Given the description of an element on the screen output the (x, y) to click on. 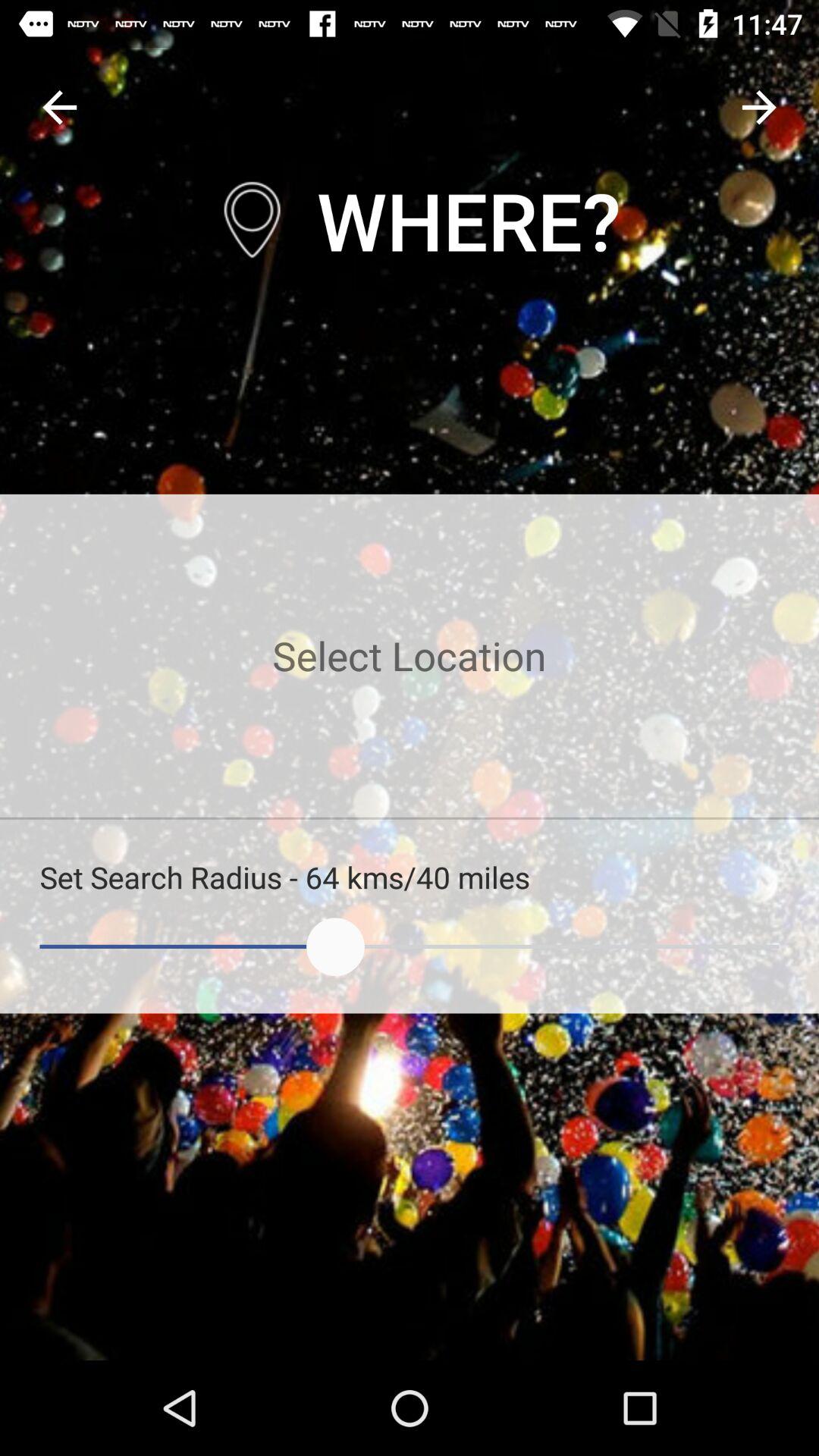
launch item at the top right corner (759, 107)
